Given the description of an element on the screen output the (x, y) to click on. 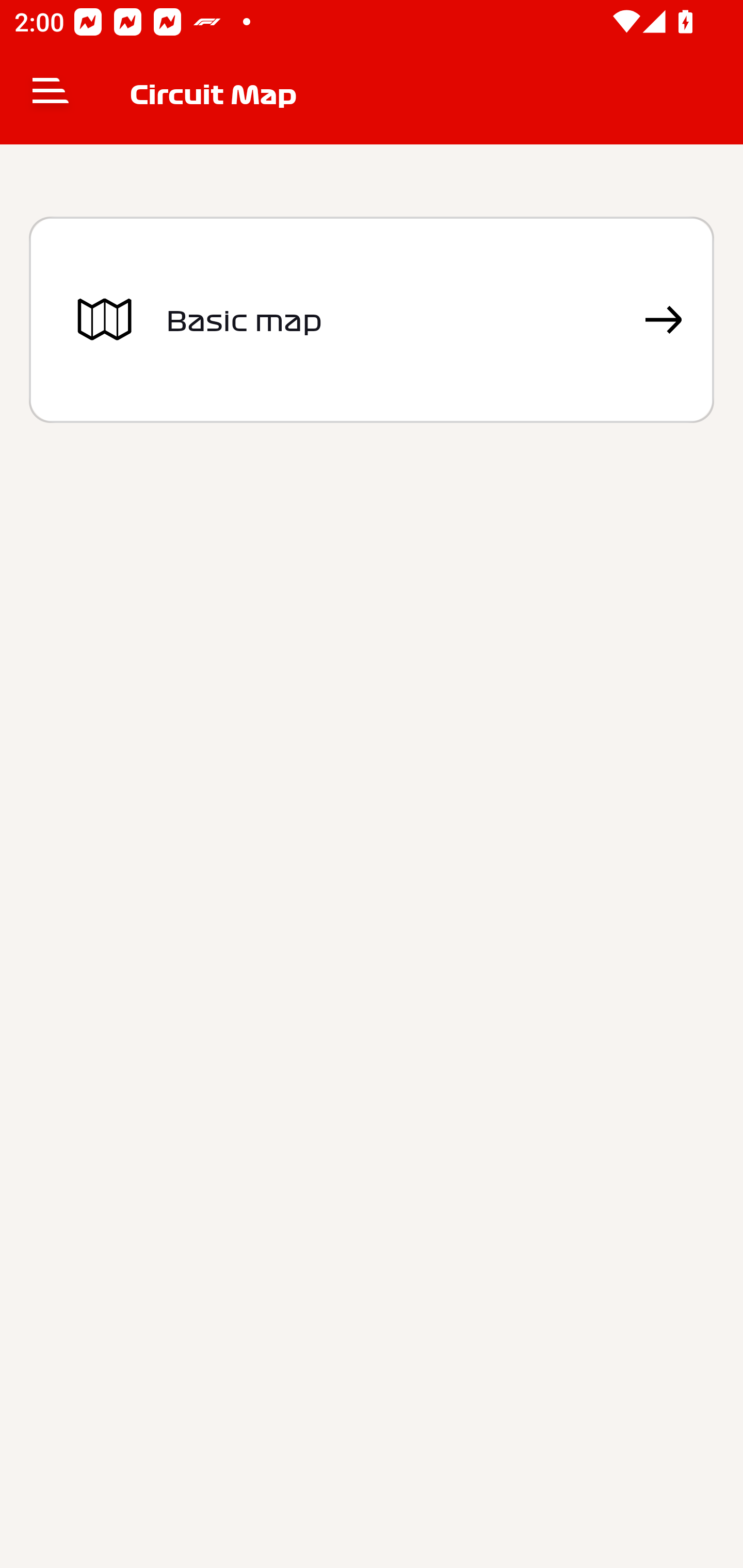
Navigate up (50, 93)
Basic map (371, 319)
